Given the description of an element on the screen output the (x, y) to click on. 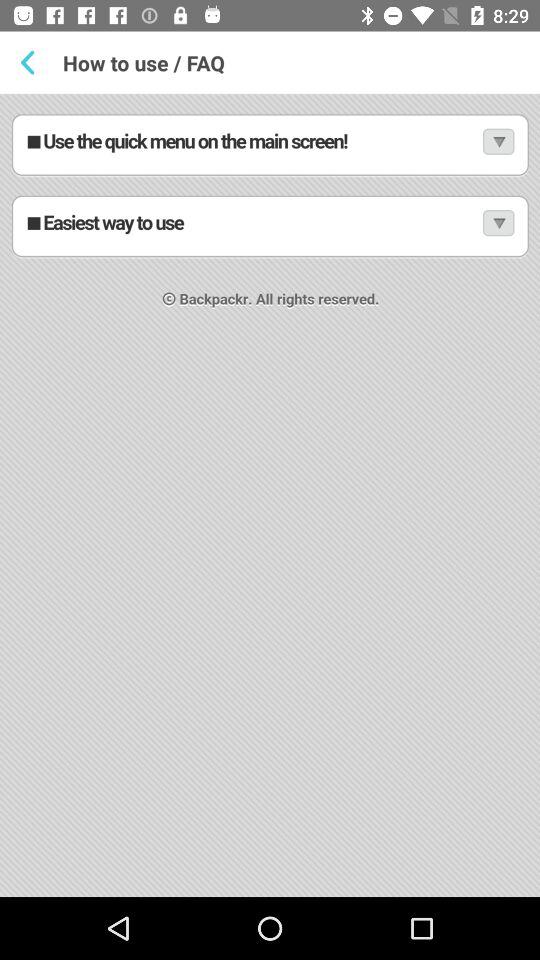
previous button (31, 62)
